Given the description of an element on the screen output the (x, y) to click on. 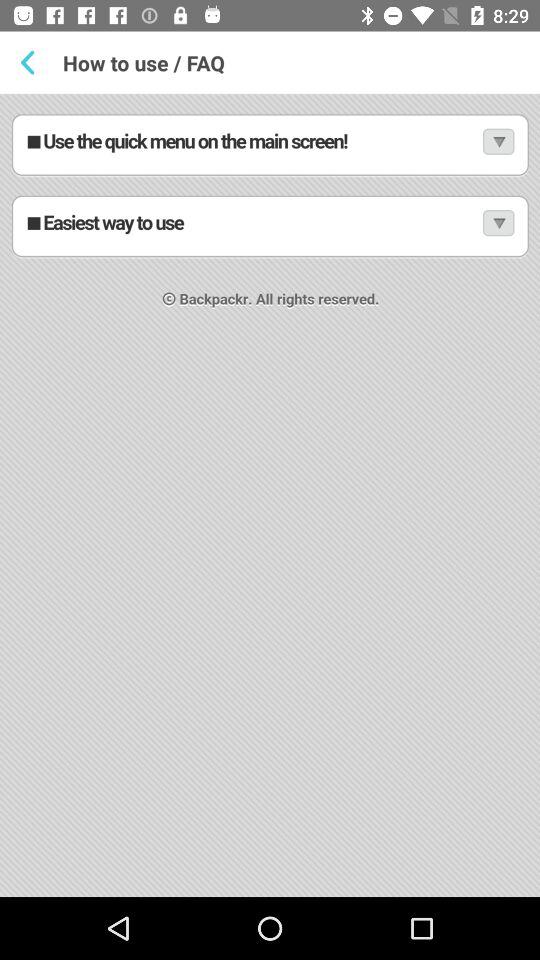
previous button (31, 62)
